Given the description of an element on the screen output the (x, y) to click on. 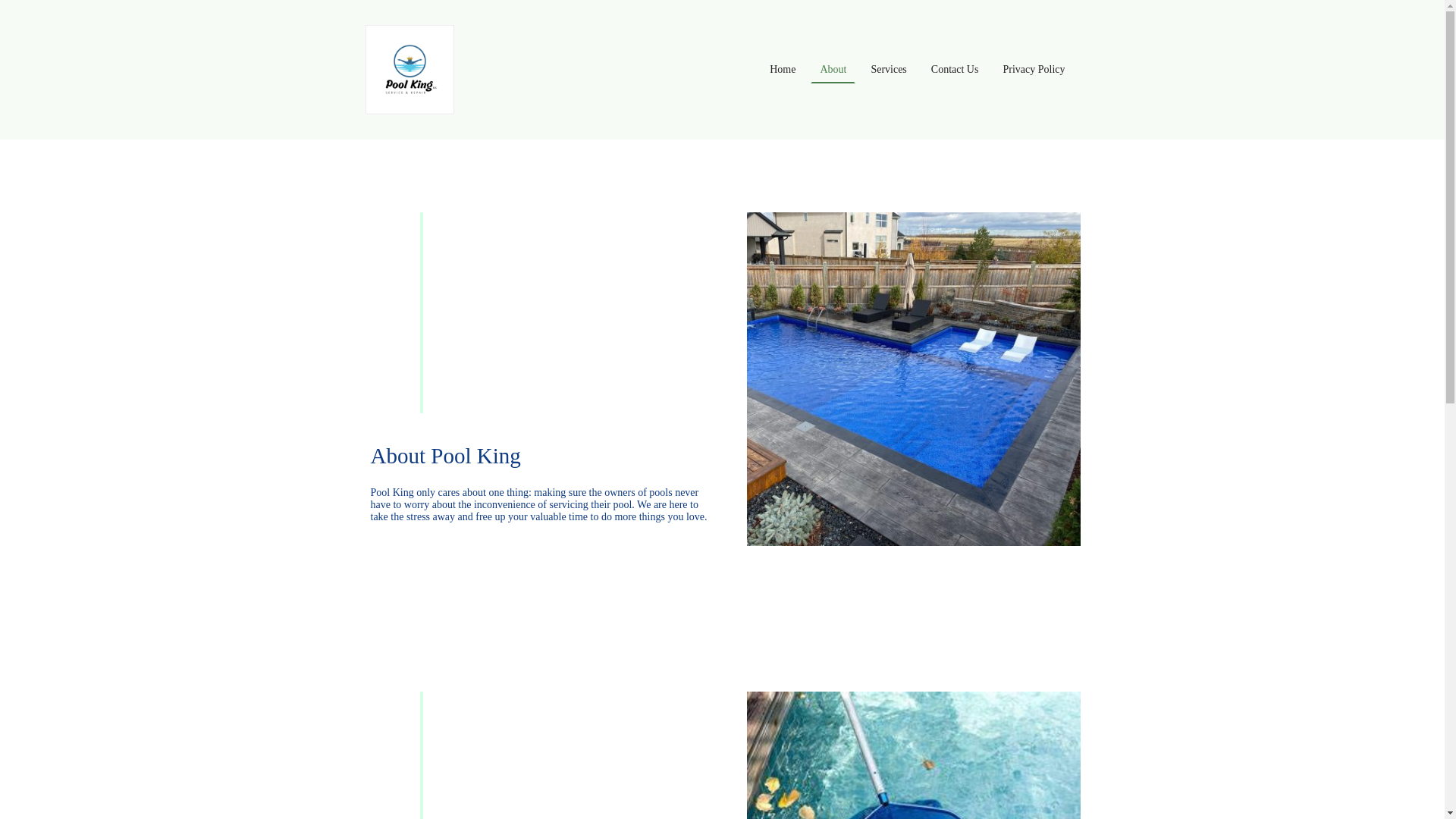
About (832, 69)
Contact Us (955, 69)
Privacy Policy (1032, 69)
Home (782, 69)
Services (888, 69)
